Given the description of an element on the screen output the (x, y) to click on. 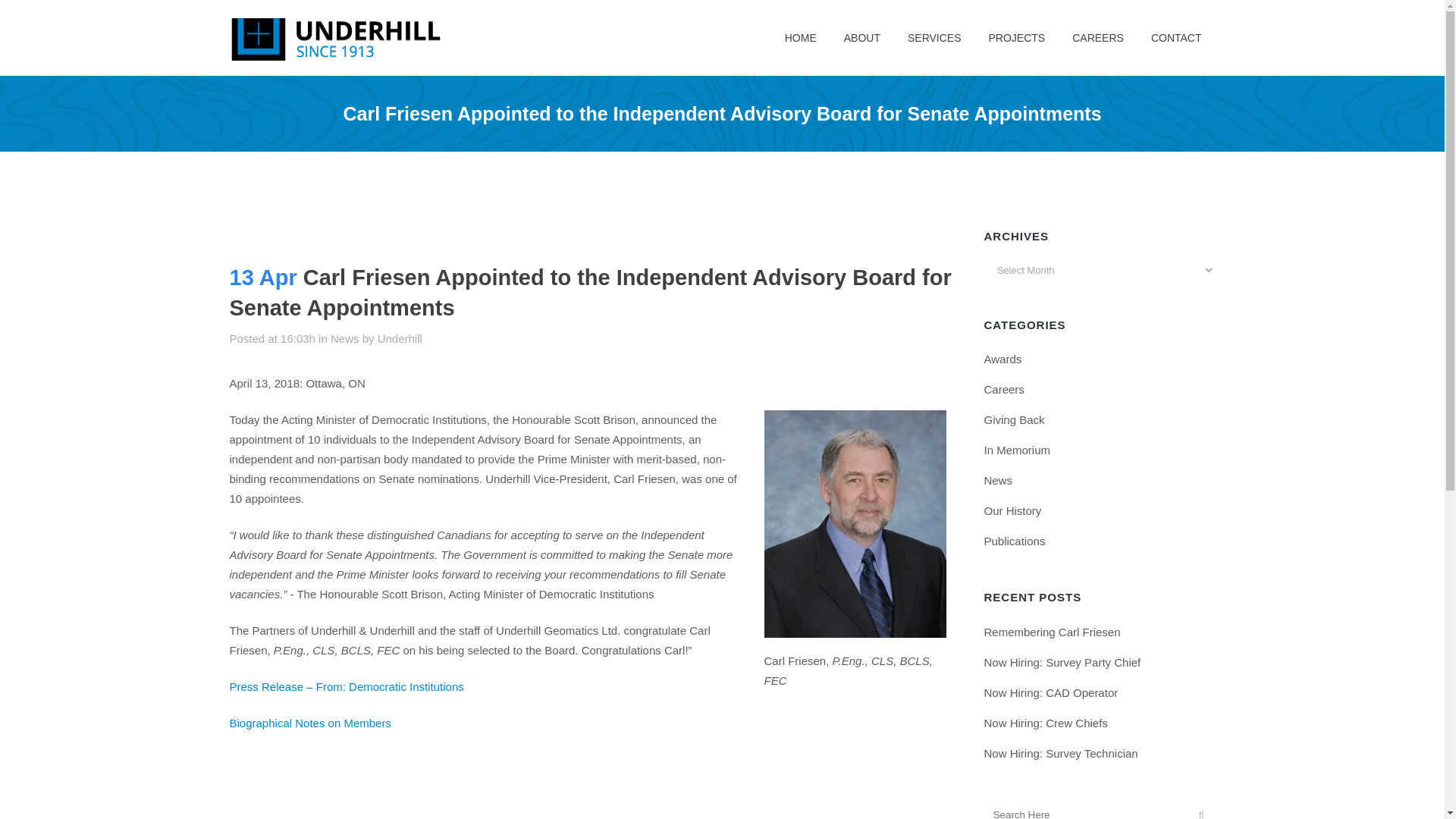
PROJECTS (1017, 38)
CONTACT (1176, 38)
CAREERS (1097, 38)
SERVICES (934, 38)
